Given the description of an element on the screen output the (x, y) to click on. 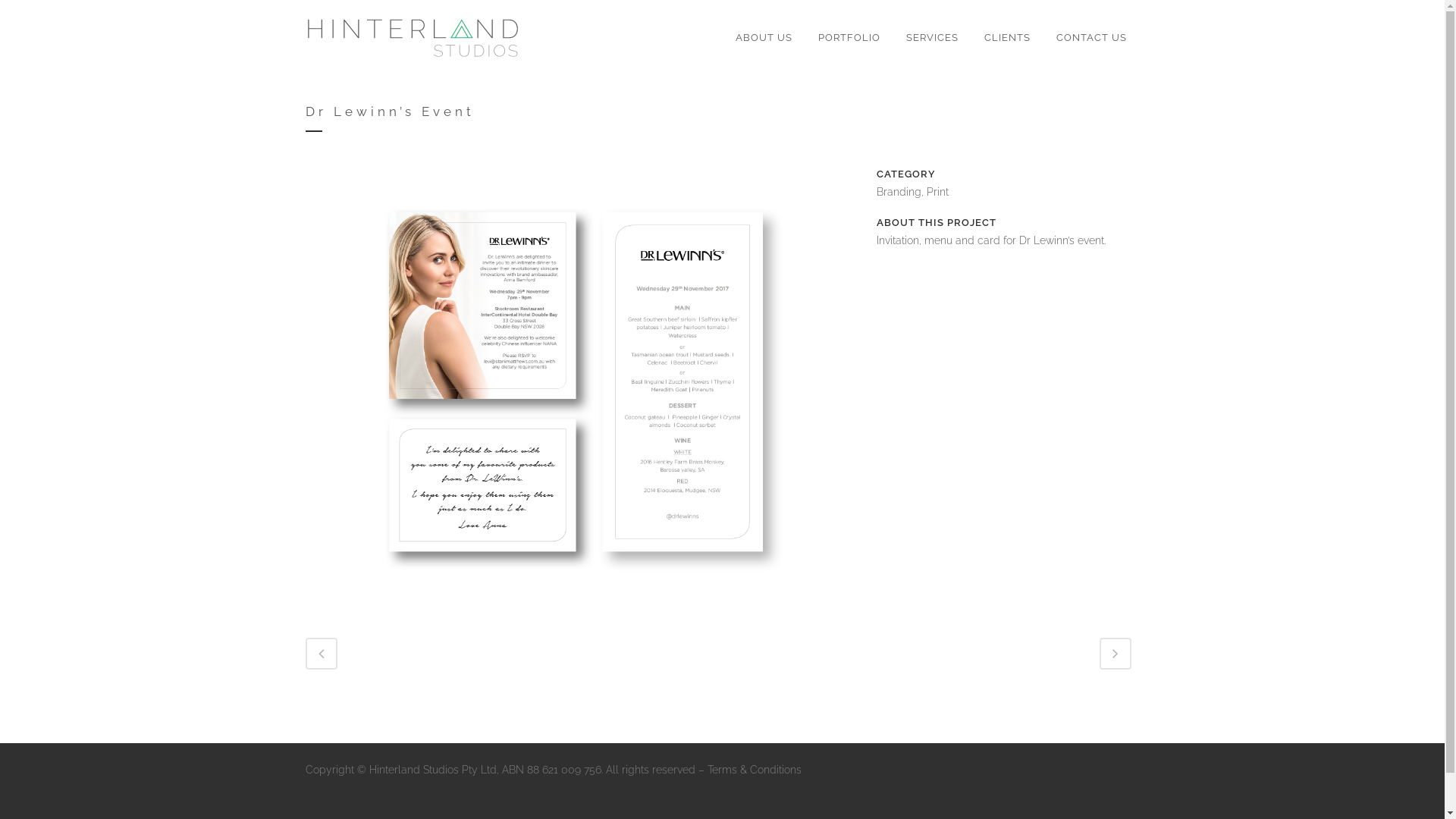
CONTACT US Element type: text (1091, 37)
Terms & Conditions Element type: text (753, 769)
CLIENTS Element type: text (1006, 37)
ABOUT US Element type: text (762, 37)
PORTFOLIO Element type: text (849, 37)
SERVICES Element type: text (932, 37)
